Given the description of an element on the screen output the (x, y) to click on. 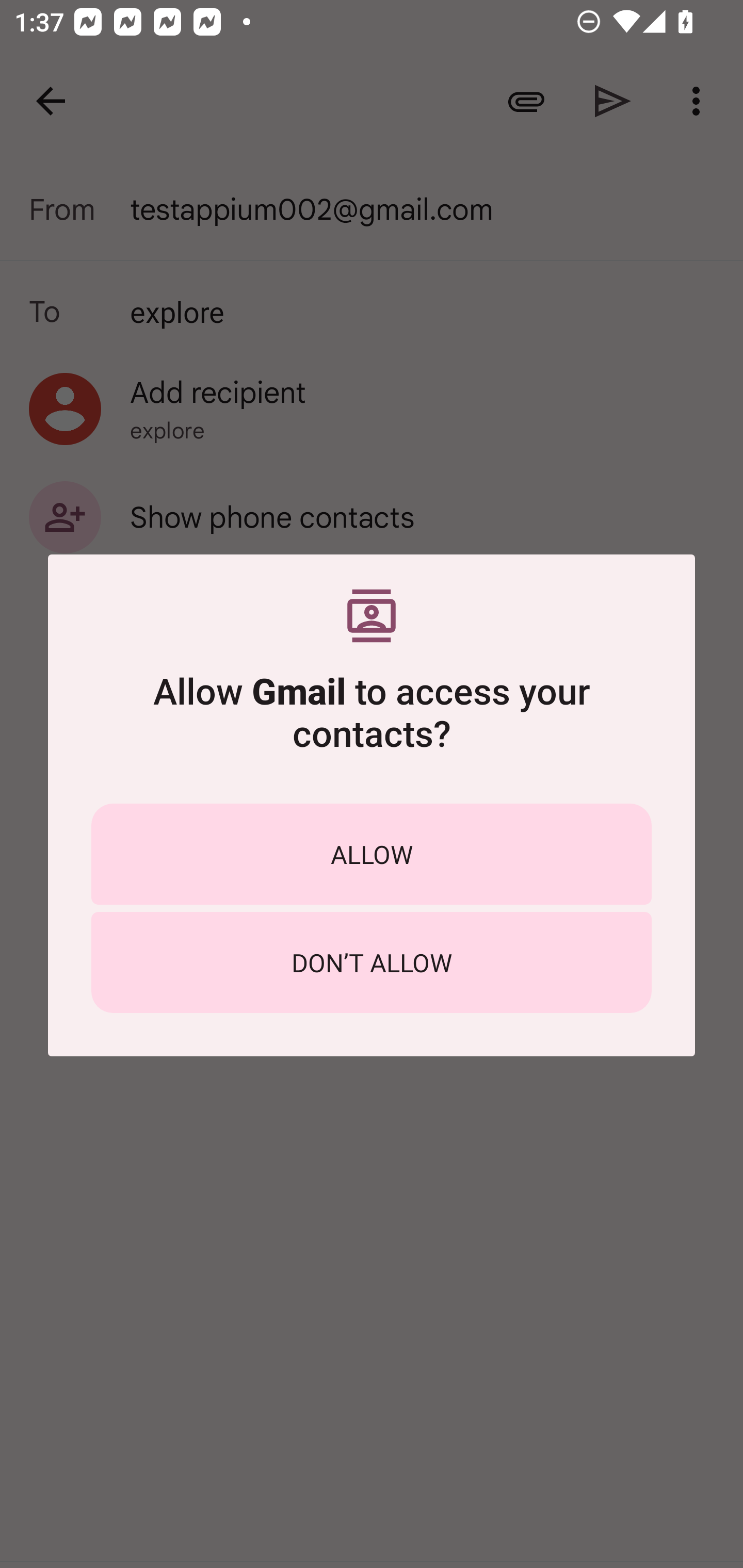
ALLOW (371, 853)
DON’T ALLOW (371, 962)
